Given the description of an element on the screen output the (x, y) to click on. 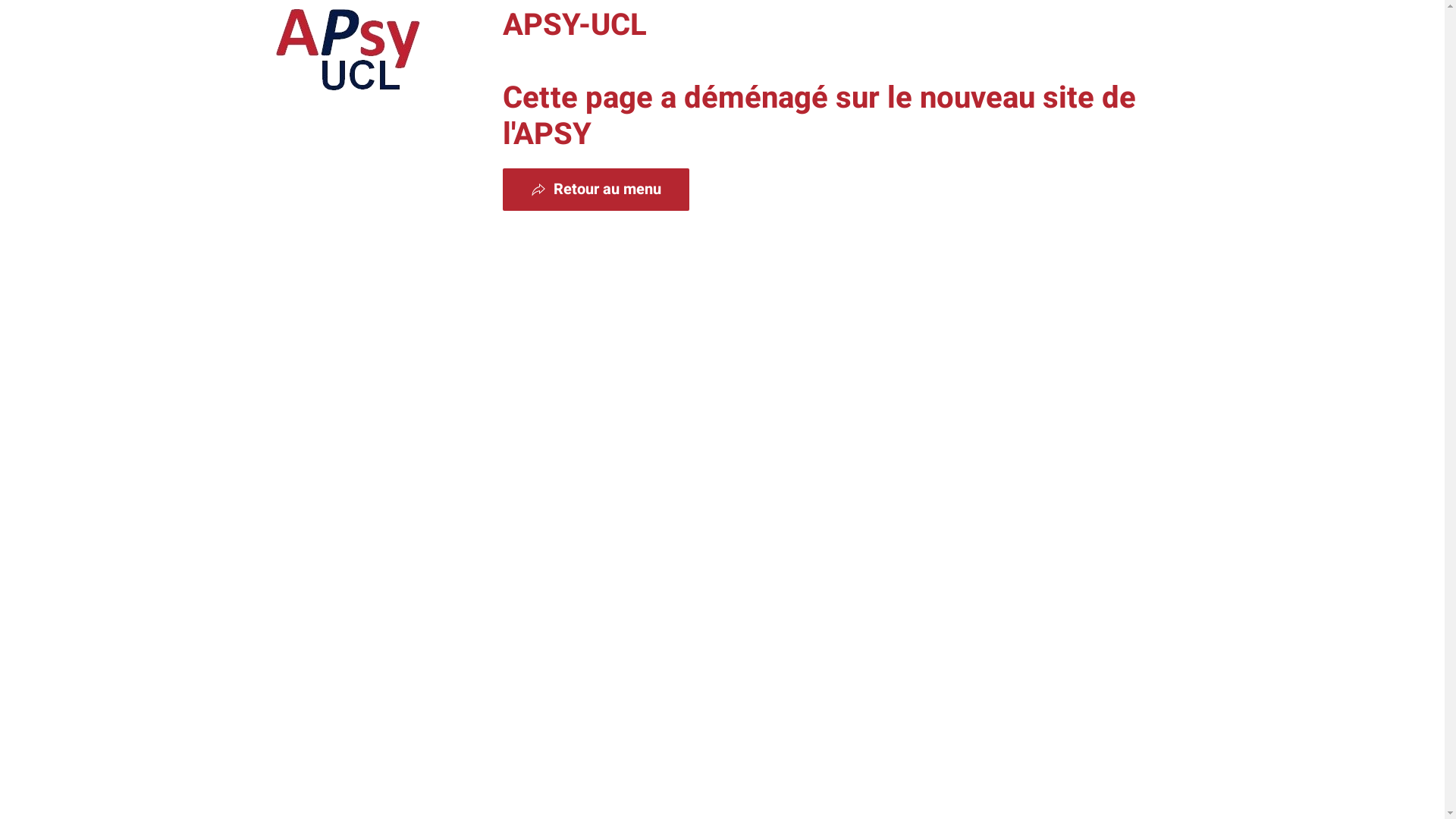
Retour au menu Element type: text (595, 189)
